Given the description of an element on the screen output the (x, y) to click on. 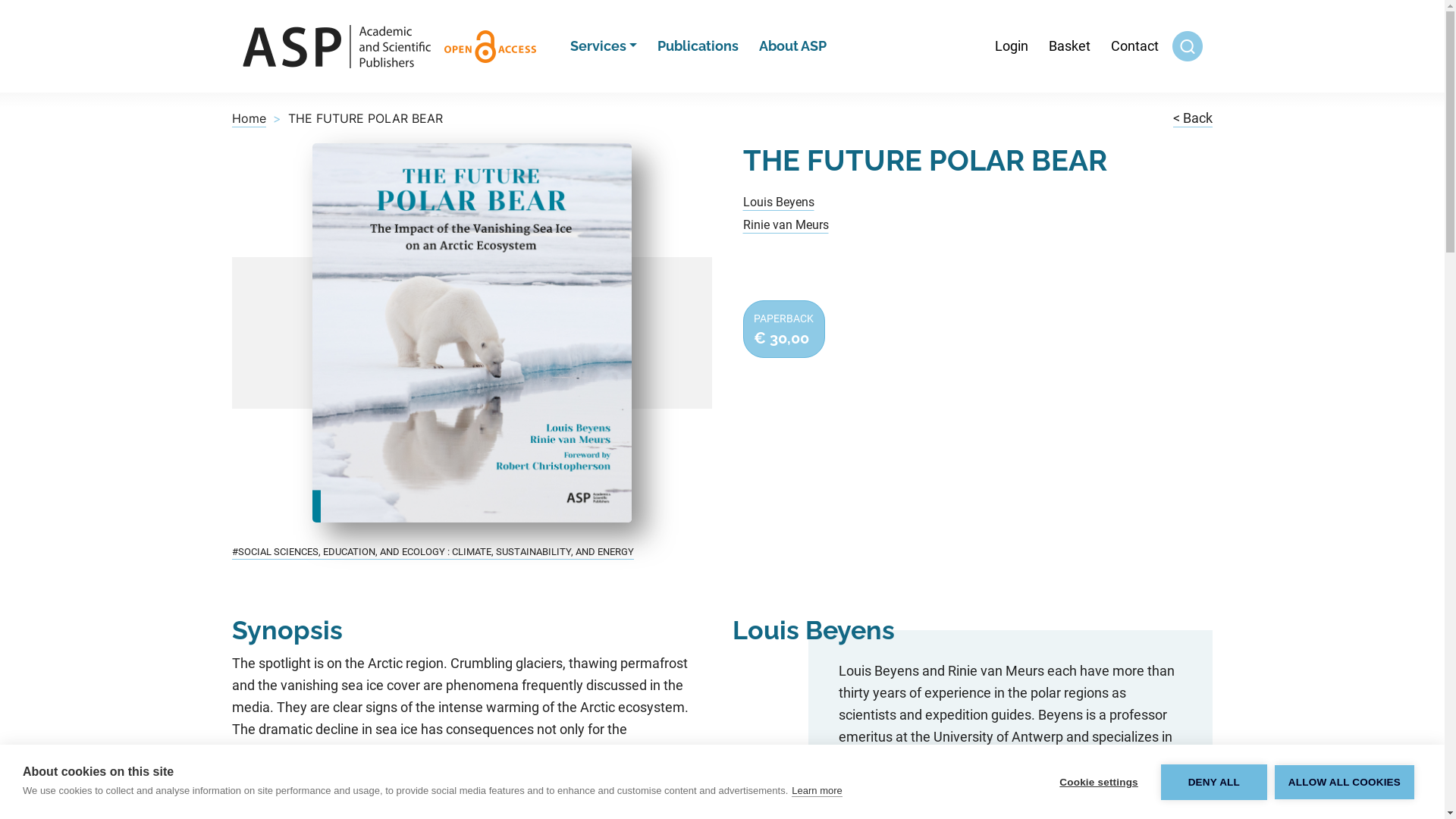
Login Element type: text (1010, 46)
Basket Element type: text (1069, 46)
Services Element type: text (602, 46)
Learn more Element type: text (816, 790)
Publications Element type: text (697, 46)
About ASP Element type: text (792, 46)
Contact Element type: text (1134, 46)
ALLOW ALL COOKIES Element type: text (1344, 781)
THE FUTURE POLAR BEAR Element type: hover (471, 332)
< Back Element type: text (1192, 118)
DENY ALL Element type: text (1214, 782)
Rinie van Meurs Element type: text (785, 224)
Home Element type: text (249, 117)
Cookie settings Element type: text (1098, 782)
Louis Beyens Element type: text (778, 201)
